Given the description of an element on the screen output the (x, y) to click on. 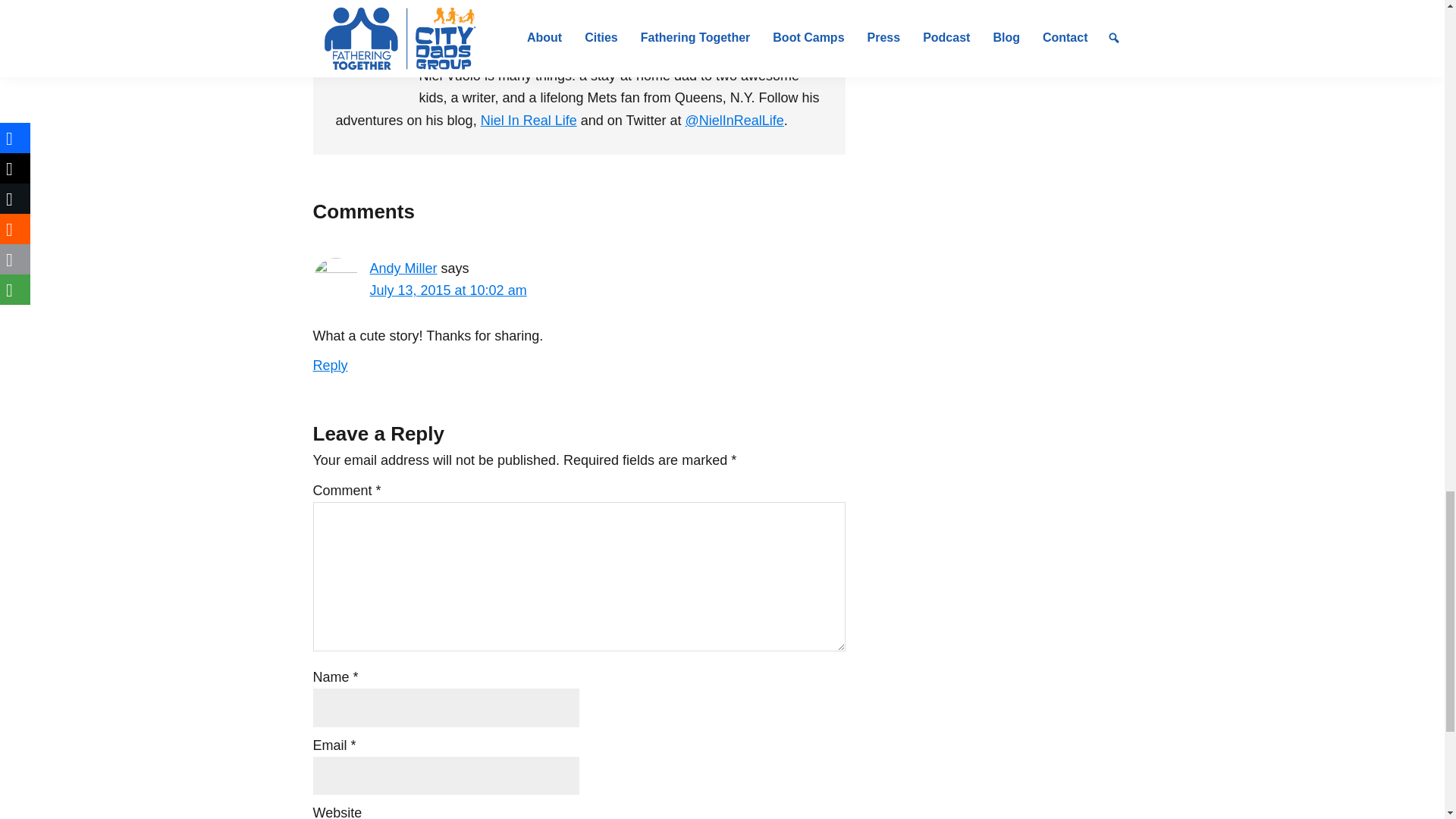
July 13, 2015 at 10:02 am (448, 290)
Niel In Real Life (528, 120)
Reply (330, 365)
Andy Miller (403, 268)
